Given the description of an element on the screen output the (x, y) to click on. 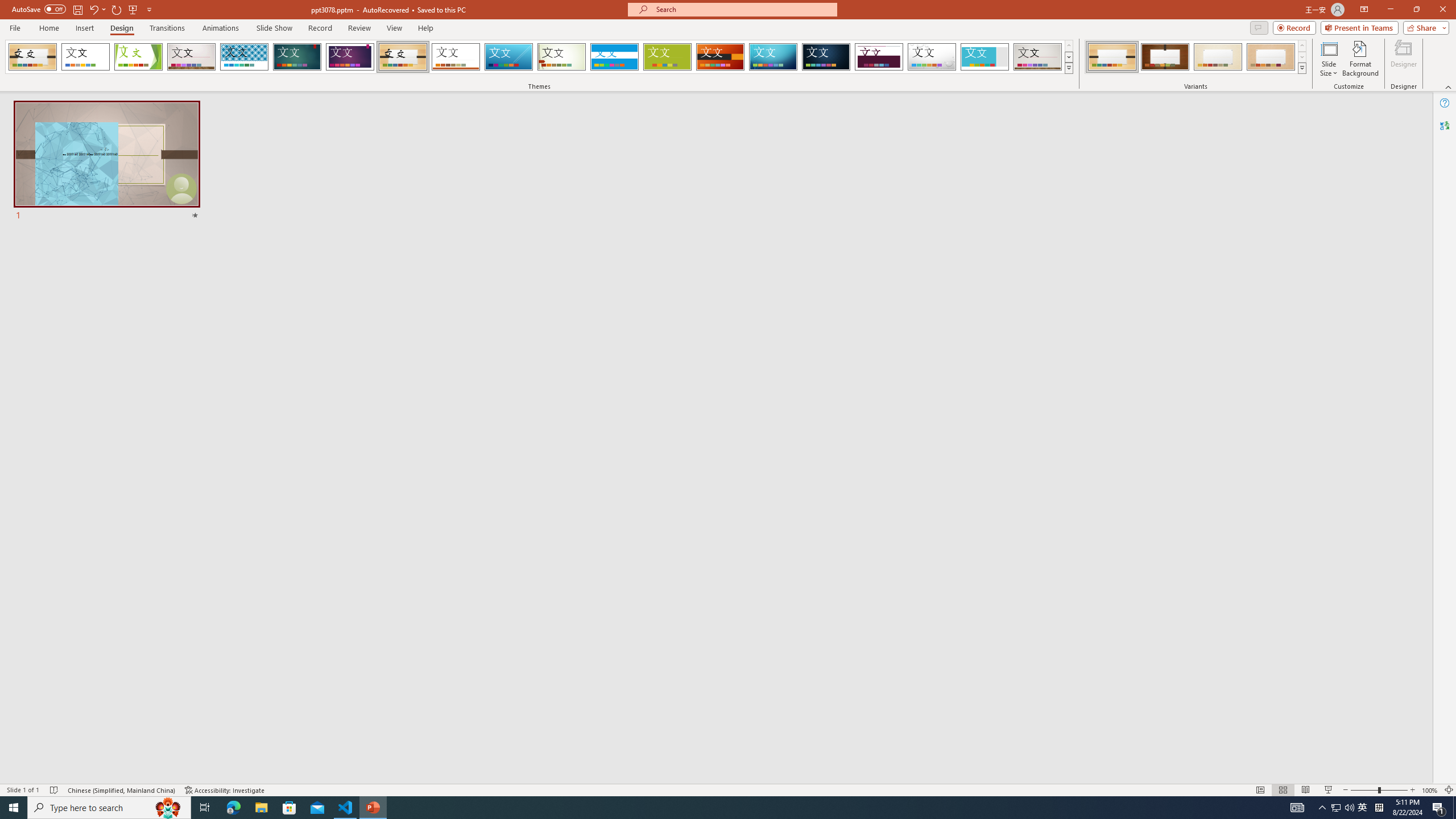
Variants (1301, 67)
Office Theme (85, 56)
Zoom 100% (1430, 790)
Berlin (720, 56)
Basis (667, 56)
Retrospect (455, 56)
